Given the description of an element on the screen output the (x, y) to click on. 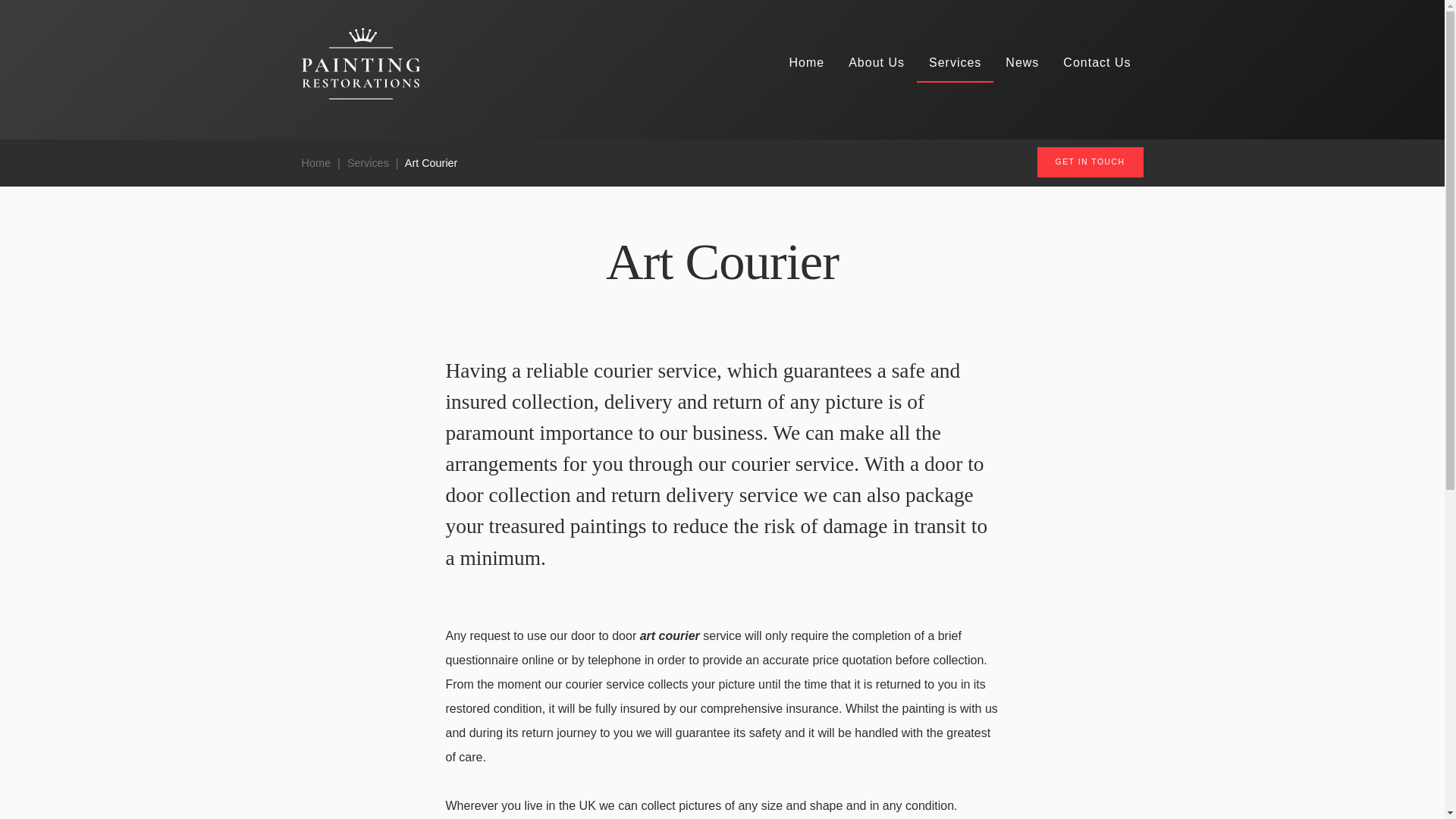
Home (805, 63)
Services (954, 63)
GET IN TOUCH (1089, 162)
Services (367, 162)
About Us (876, 63)
News (1021, 63)
Contact Us (1096, 63)
Home (315, 162)
